Given the description of an element on the screen output the (x, y) to click on. 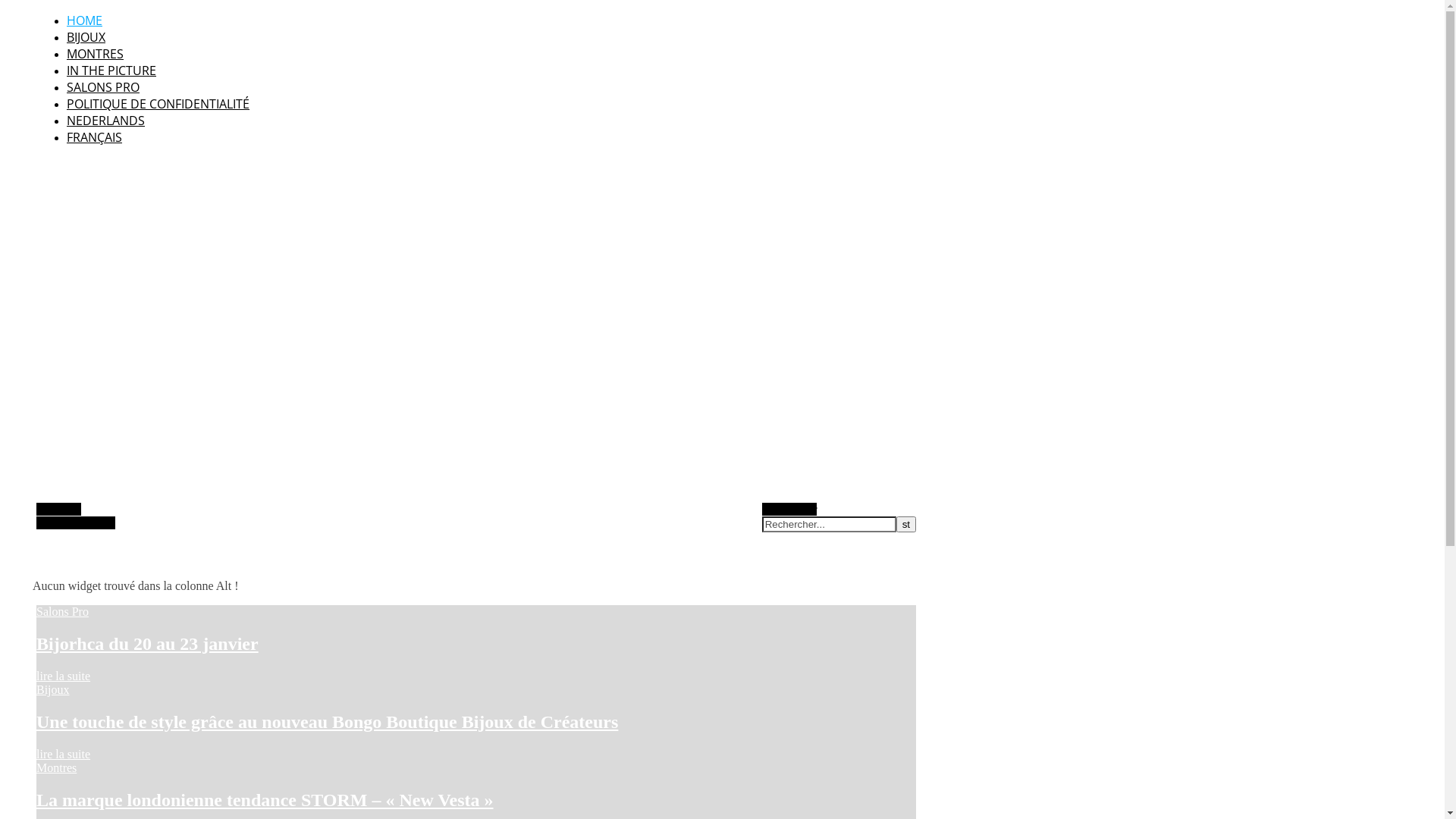
HOME Element type: text (84, 20)
Montres Element type: text (56, 767)
lire la suite Element type: text (63, 675)
st Element type: text (906, 524)
lire la suite Element type: text (63, 753)
Salons Pro Element type: text (62, 611)
NEDERLANDS Element type: text (105, 120)
IN THE PICTURE Element type: text (111, 70)
Bijoux Element type: text (52, 689)
MONTRES Element type: text (94, 53)
SALONS PRO Element type: text (102, 86)
BIJOUX Element type: text (85, 36)
Bijorhca du 20 au 23 janvier Element type: text (147, 643)
